Given the description of an element on the screen output the (x, y) to click on. 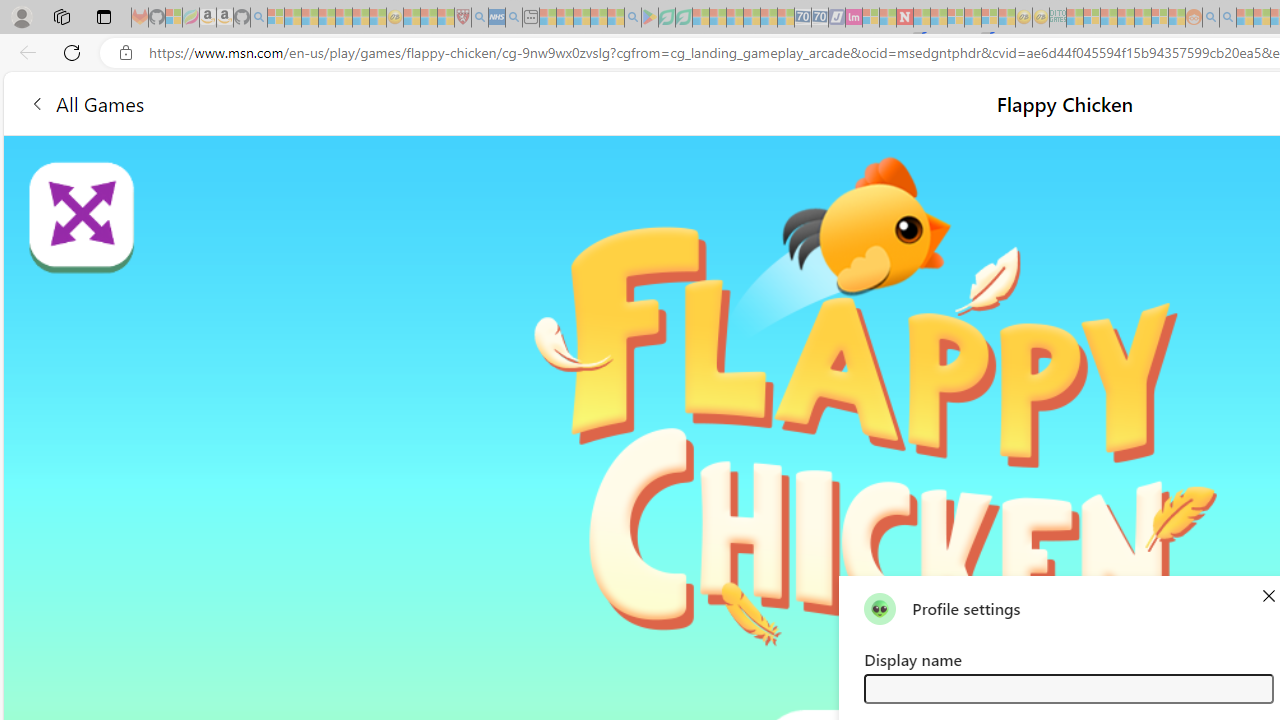
utah sues federal government - Search - Sleeping (513, 17)
Recipes - MSN - Sleeping (411, 17)
Tab actions menu (104, 16)
Workspaces (61, 16)
MSNBC - MSN - Sleeping (1074, 17)
Refresh (72, 52)
Robert H. Shmerling, MD - Harvard Health - Sleeping (462, 17)
NCL Adult Asthma Inhaler Choice Guideline - Sleeping (497, 17)
Latest Politics News & Archive | Newsweek.com - Sleeping (904, 17)
